Given the description of an element on the screen output the (x, y) to click on. 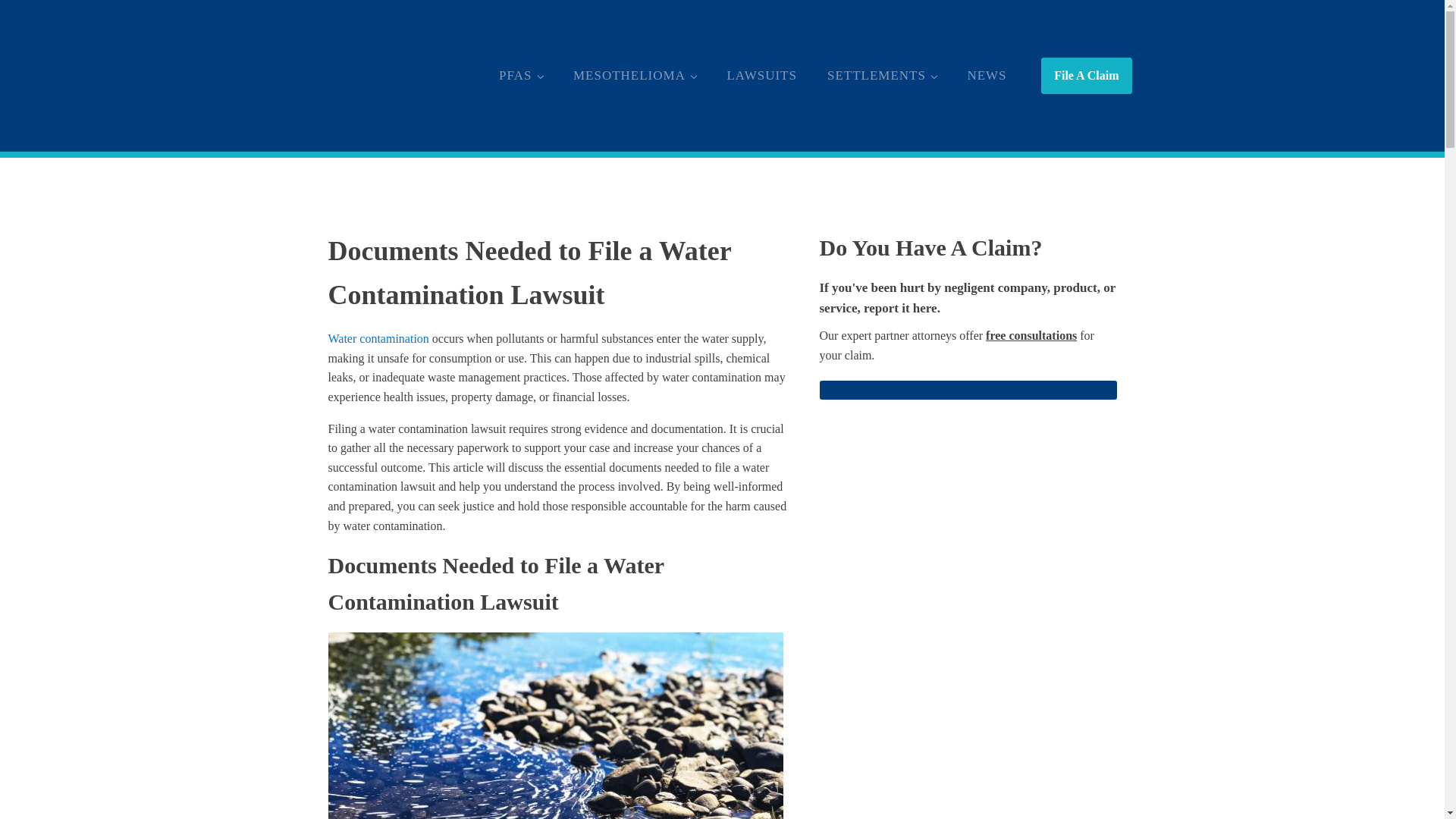
SETTLEMENTS (882, 74)
NEWS (987, 74)
PFAS (520, 74)
MESOTHELIOMA (634, 74)
File A Claim (1086, 75)
LAWSUITS (761, 74)
Water contamination (377, 338)
